Given the description of an element on the screen output the (x, y) to click on. 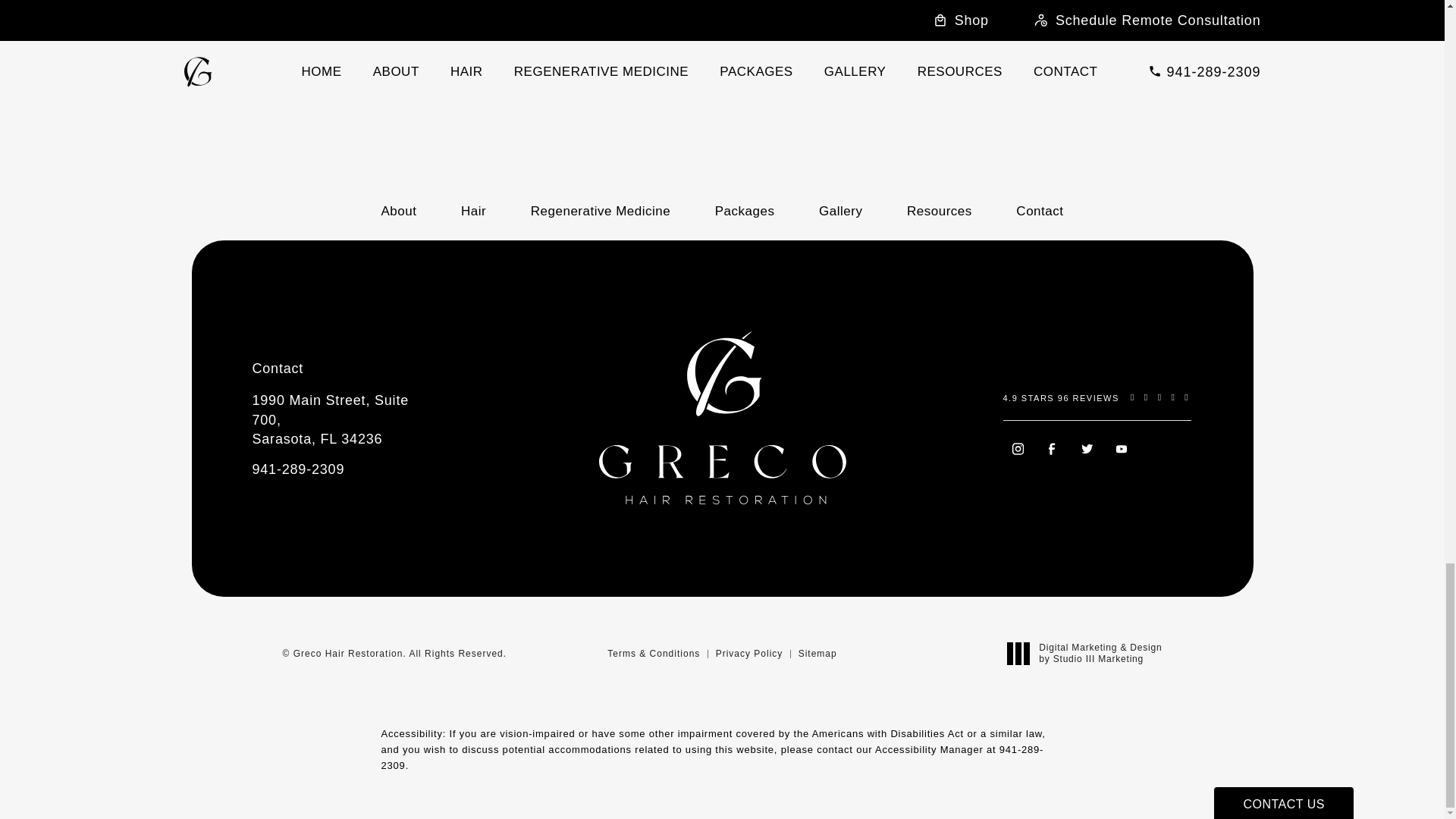
Greco Hair Restoration on Facebook (1053, 450)
Greco Hair Restoration on Youtube (1123, 450)
Greco Hair Restoration on Instagram (1018, 450)
Greco Hair Restoration on Twitter (1088, 450)
